Given the description of an element on the screen output the (x, y) to click on. 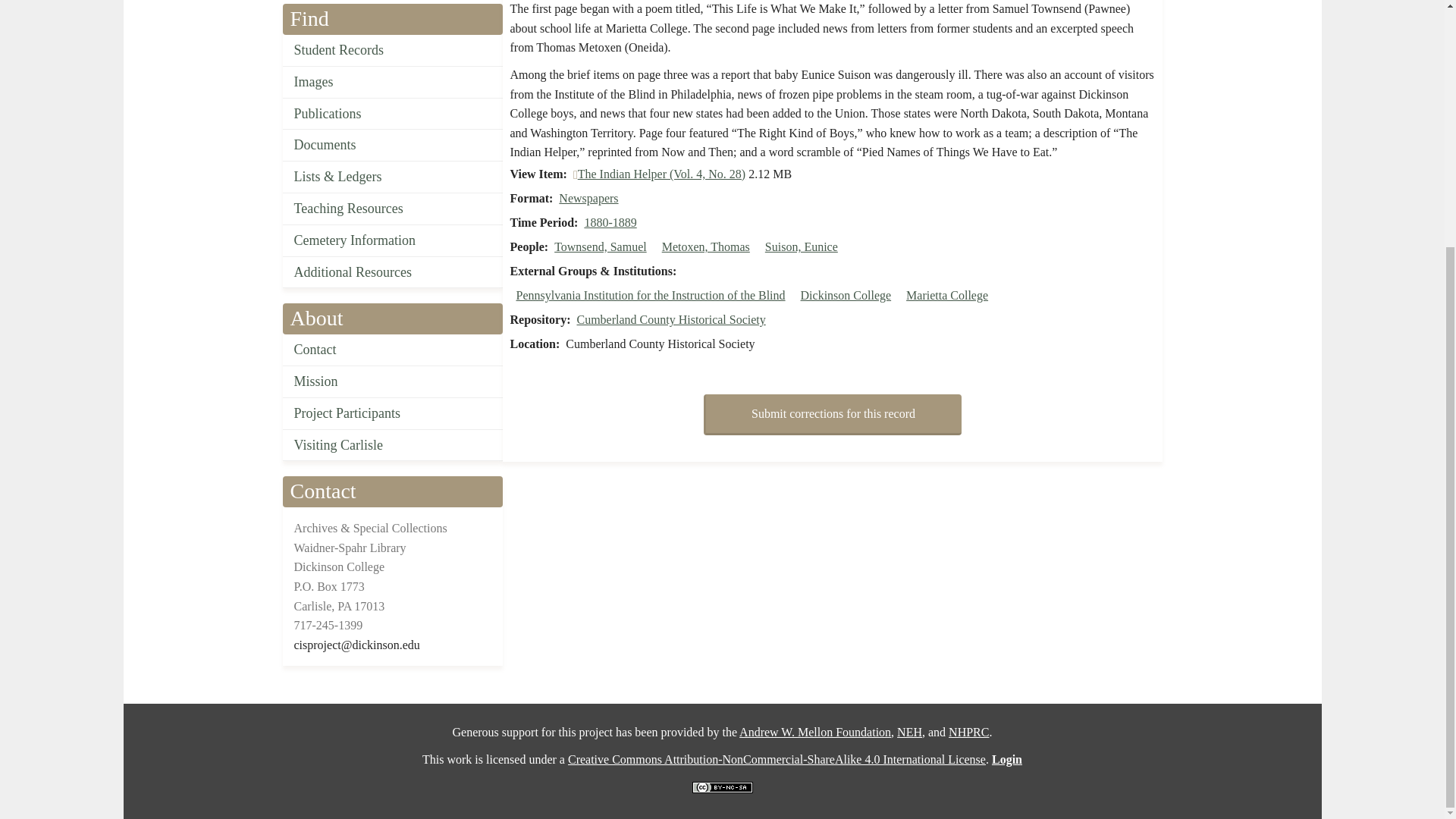
Cumberland County Historical Society (670, 318)
Submit corrections for this record (831, 413)
Go to the Andrew W. Mellon Foundation site (815, 731)
Visiting Carlisle (392, 445)
Images (392, 82)
Login for Archives staff (1006, 758)
Login (1006, 758)
Dickinson College (845, 295)
Student Records (392, 50)
Open file in new window (661, 173)
